Given the description of an element on the screen output the (x, y) to click on. 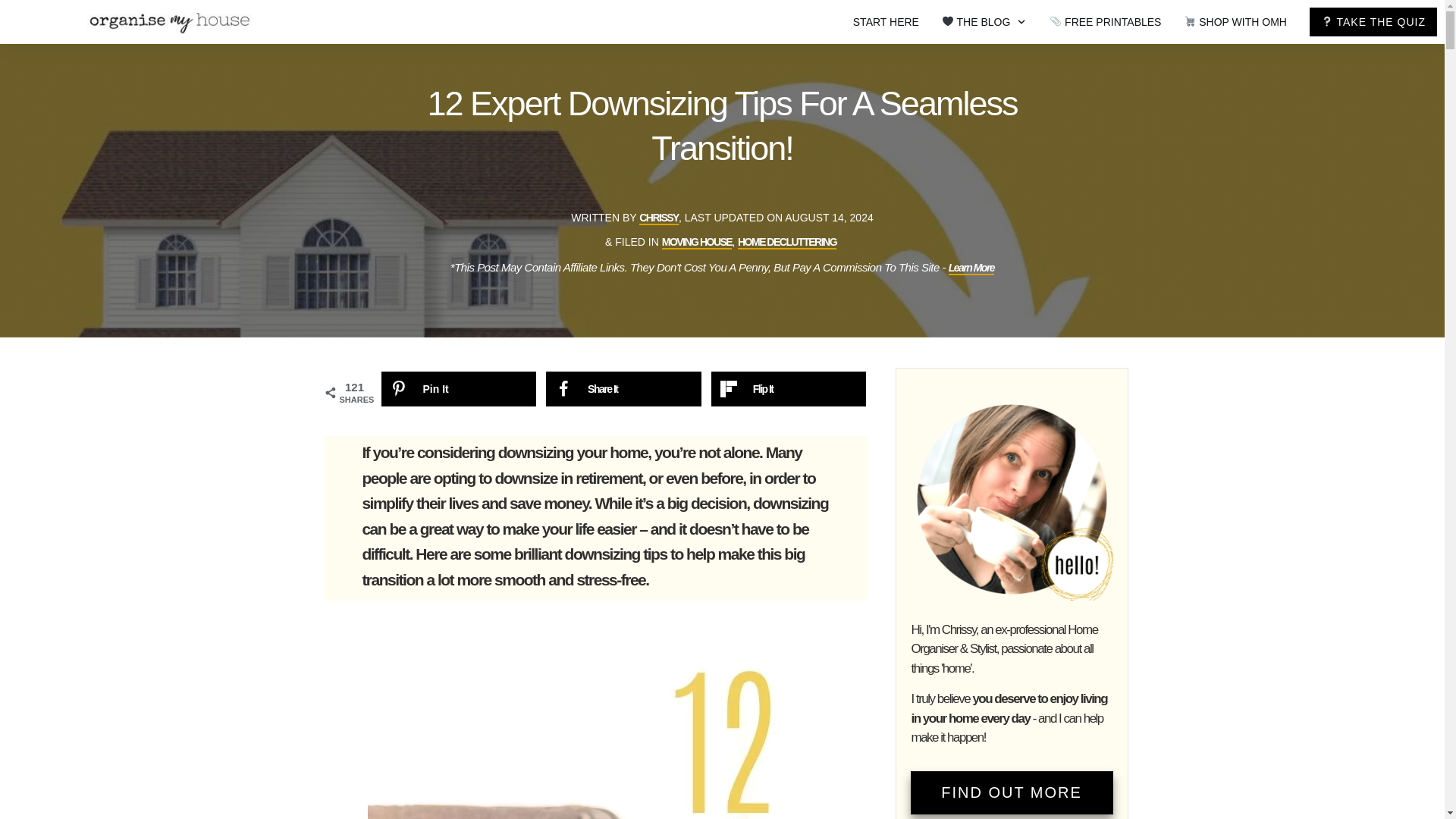
Home Decluttering (786, 242)
START HERE (885, 21)
TAKE THE QUIZ (1372, 21)
THE BLOG (984, 21)
Learn More (971, 268)
Share on Facebook (623, 388)
CHRISSY (658, 218)
HOME DECLUTTERING (786, 242)
FREE PRINTABLES (1104, 21)
Pin It (457, 388)
